Given the description of an element on the screen output the (x, y) to click on. 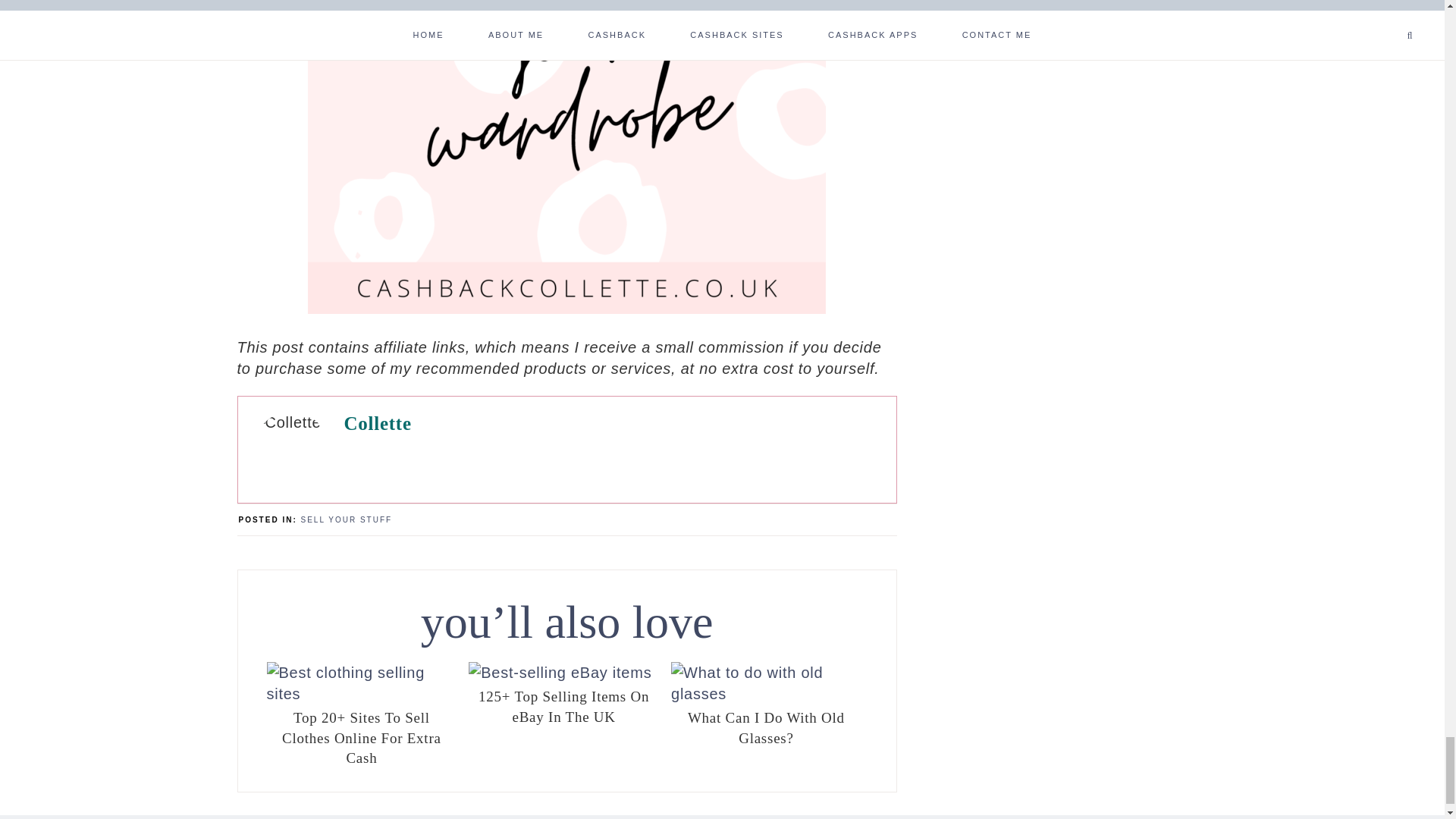
Collette (377, 423)
Permanent Link to What Can I Do With Old Glasses? (766, 726)
SELL YOUR STUFF (347, 519)
Permanent Link to What Can I Do With Old Glasses? (766, 693)
